Given the description of an element on the screen output the (x, y) to click on. 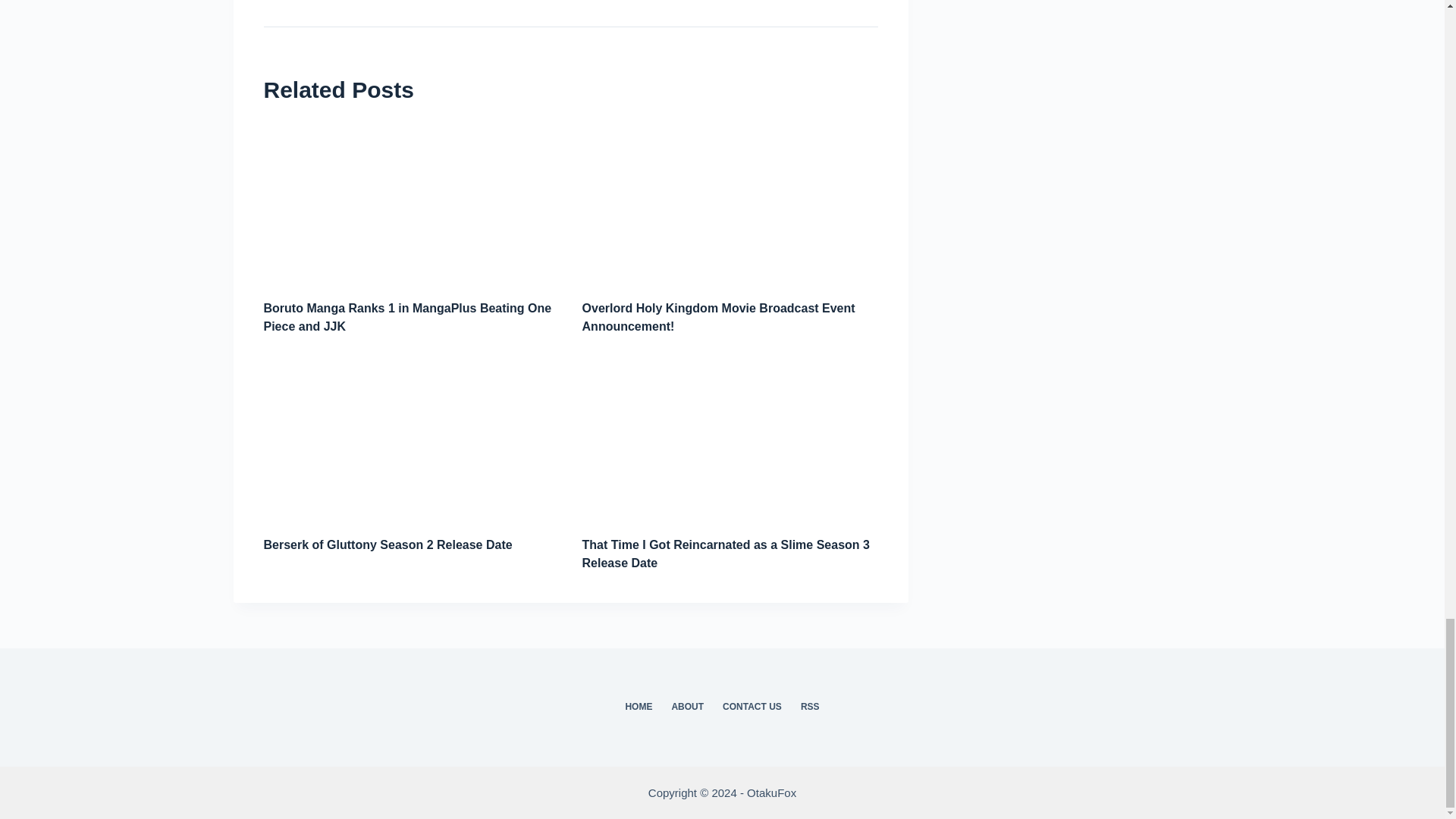
Boruto Manga Ranks 1 in MangaPlus Beating One Piece and JJK (407, 317)
ABOUT (687, 707)
CONTACT US (752, 707)
Berserk of Gluttony Season 2 Release Date (387, 544)
HOME (638, 707)
Overlord Holy Kingdom Movie Broadcast Event Announcement! (719, 317)
RSS (809, 707)
